Given the description of an element on the screen output the (x, y) to click on. 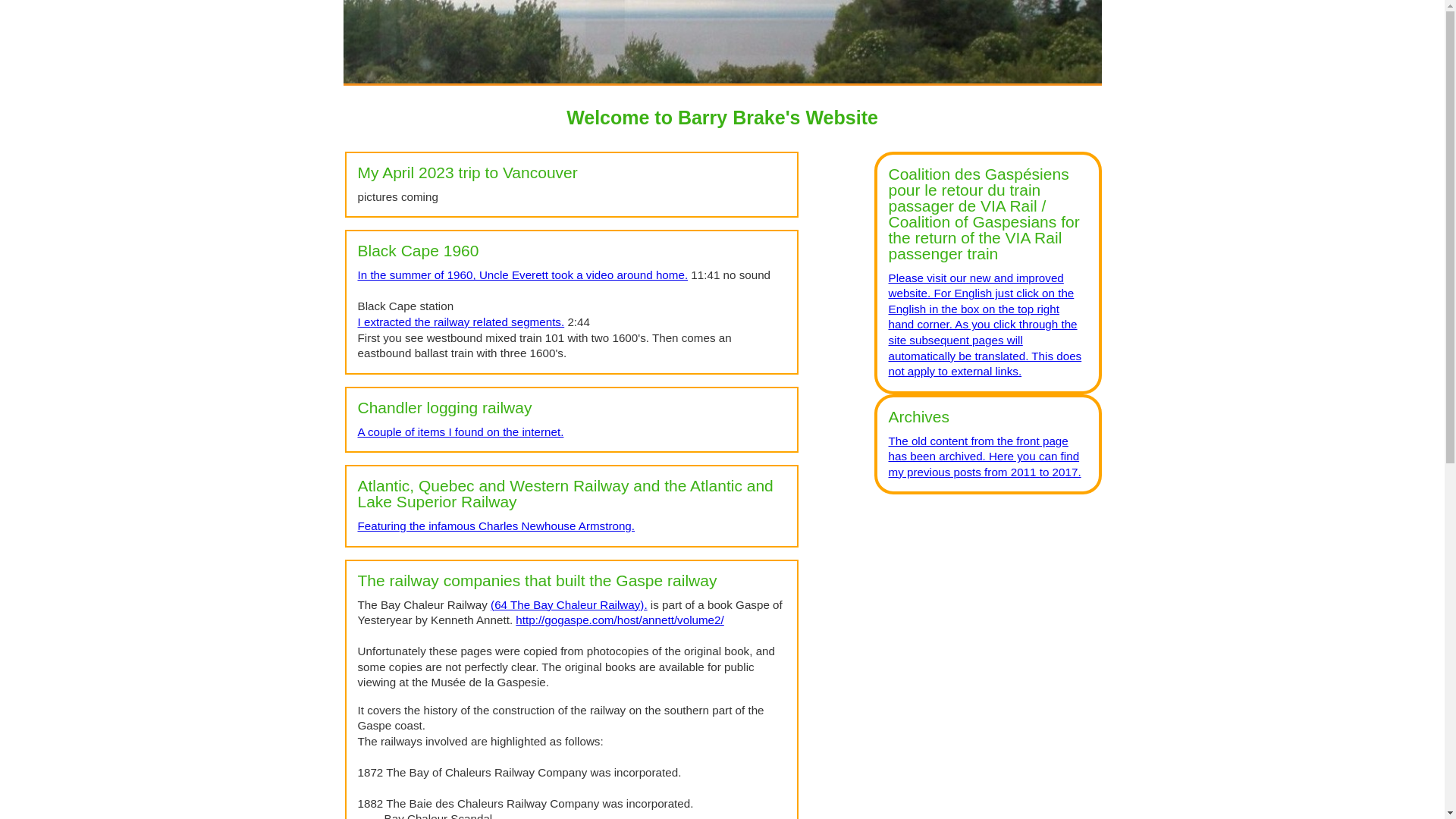
http://gogaspe.com/host/annett/volume2/ Element type: text (619, 619)
I extracted the railway related segments. Element type: text (460, 321)
A couple of items I found on the internet. Element type: text (460, 431)
Featuring the infamous Charles Newhouse Armstrong. Element type: text (496, 525)
(64 The Bay Chaleur Railway). Element type: text (568, 604)
